Given the description of an element on the screen output the (x, y) to click on. 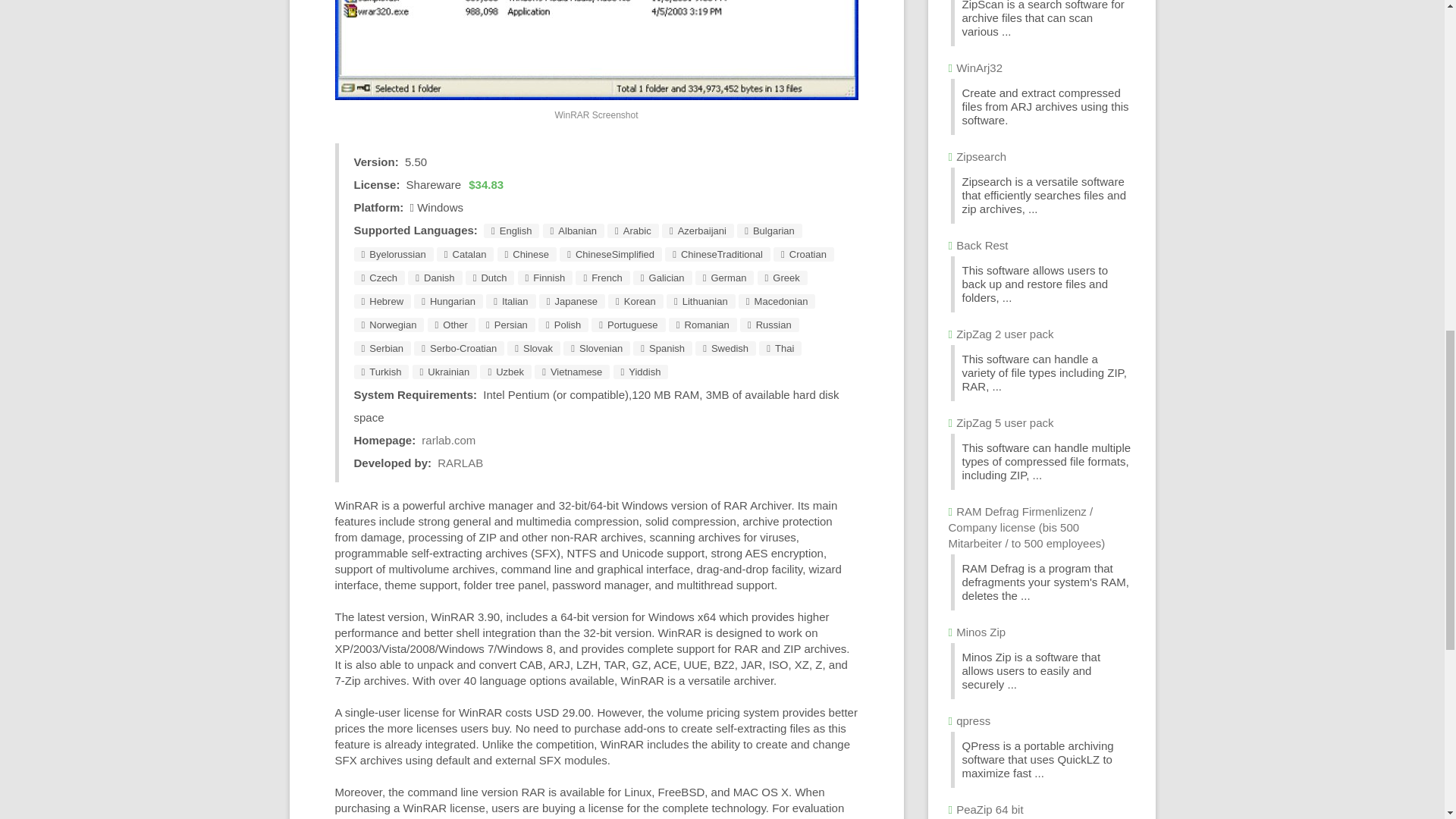
WinRAR (596, 49)
